Given the description of an element on the screen output the (x, y) to click on. 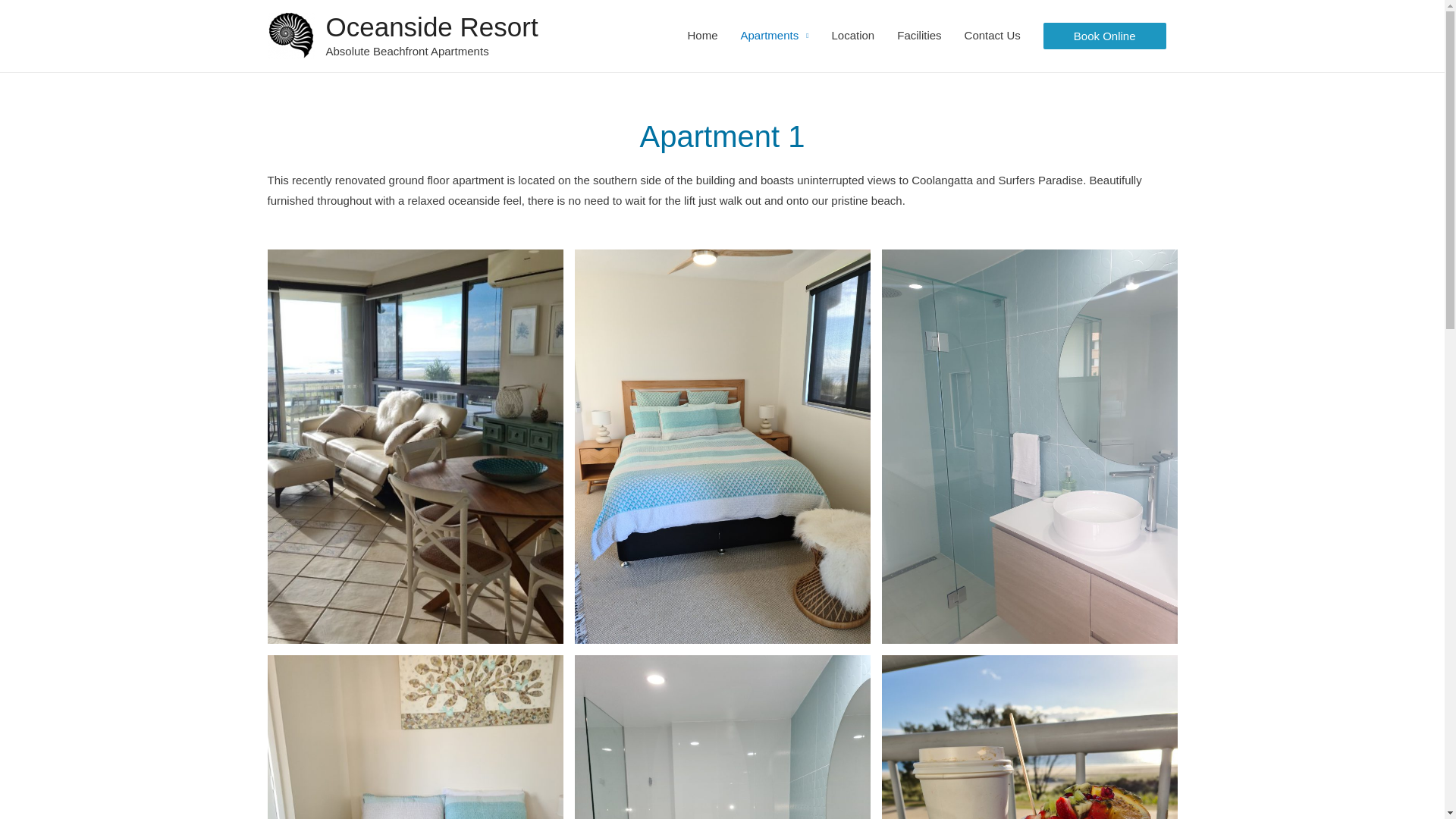
Home Element type: text (701, 36)
Facilities Element type: text (918, 36)
Oceanside Resort Element type: text (432, 26)
Contact Us Element type: text (992, 36)
Apartments Element type: text (774, 36)
Location Element type: text (853, 36)
Book Online Element type: text (1104, 35)
